Given the description of an element on the screen output the (x, y) to click on. 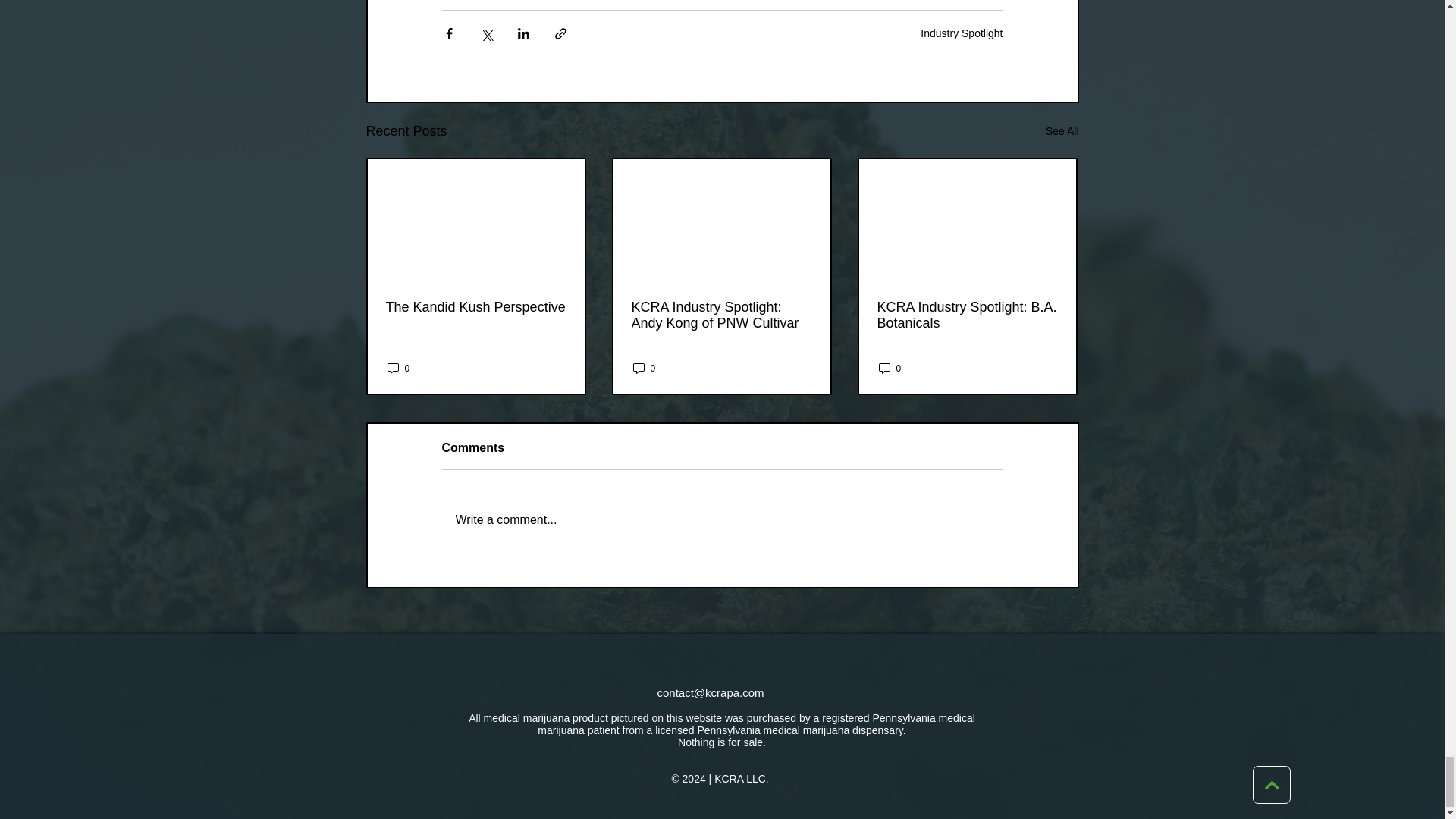
0 (397, 368)
KCRA Industry Spotlight: B.A. Botanicals (966, 315)
0 (889, 368)
Write a comment... (721, 519)
0 (643, 368)
Industry Spotlight (961, 33)
KCRA Industry Spotlight: Andy Kong of PNW Cultivar (720, 315)
The Kandid Kush Perspective (475, 307)
See All (1061, 131)
